Given the description of an element on the screen output the (x, y) to click on. 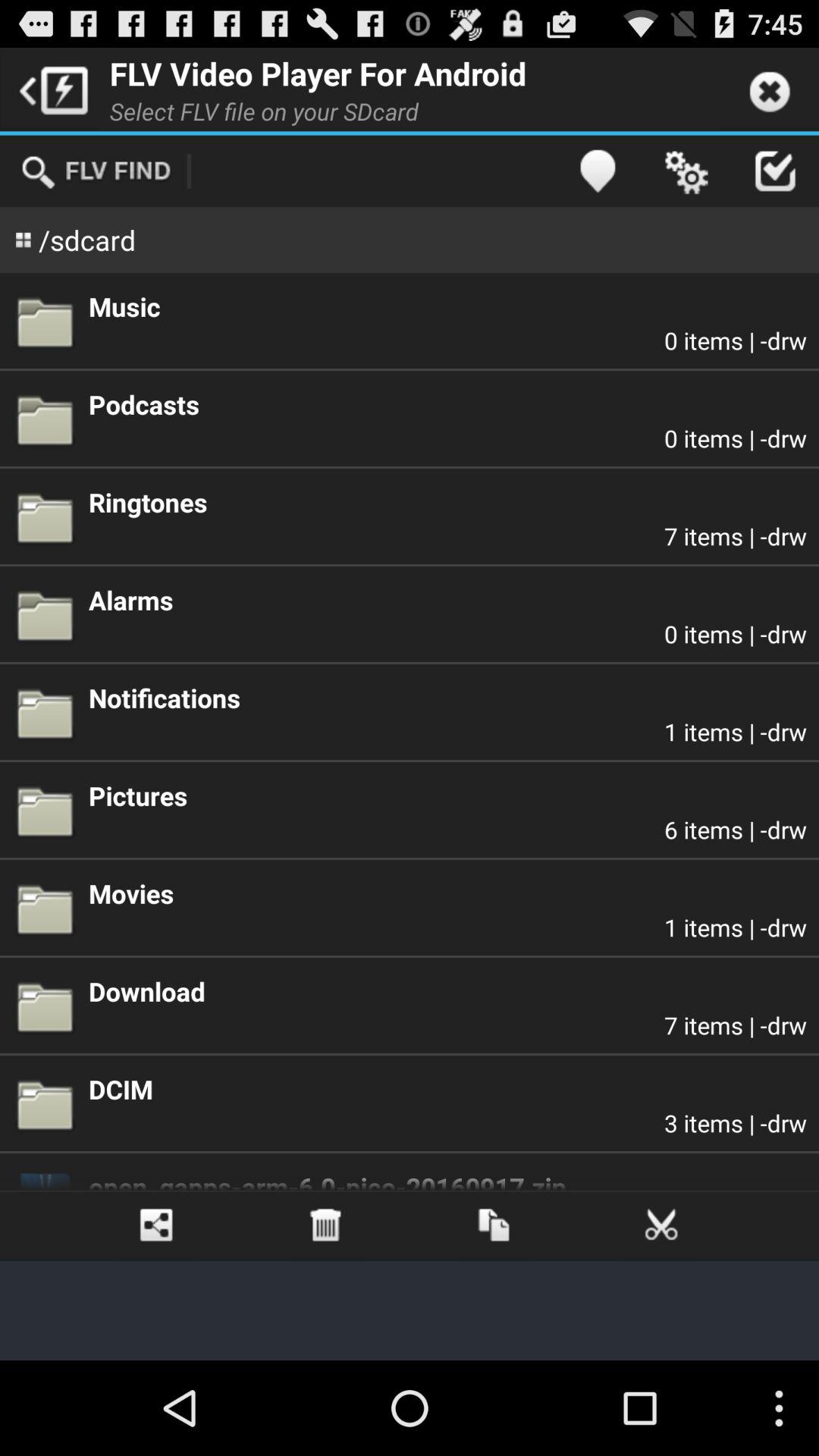
open dcim (447, 1088)
